Given the description of an element on the screen output the (x, y) to click on. 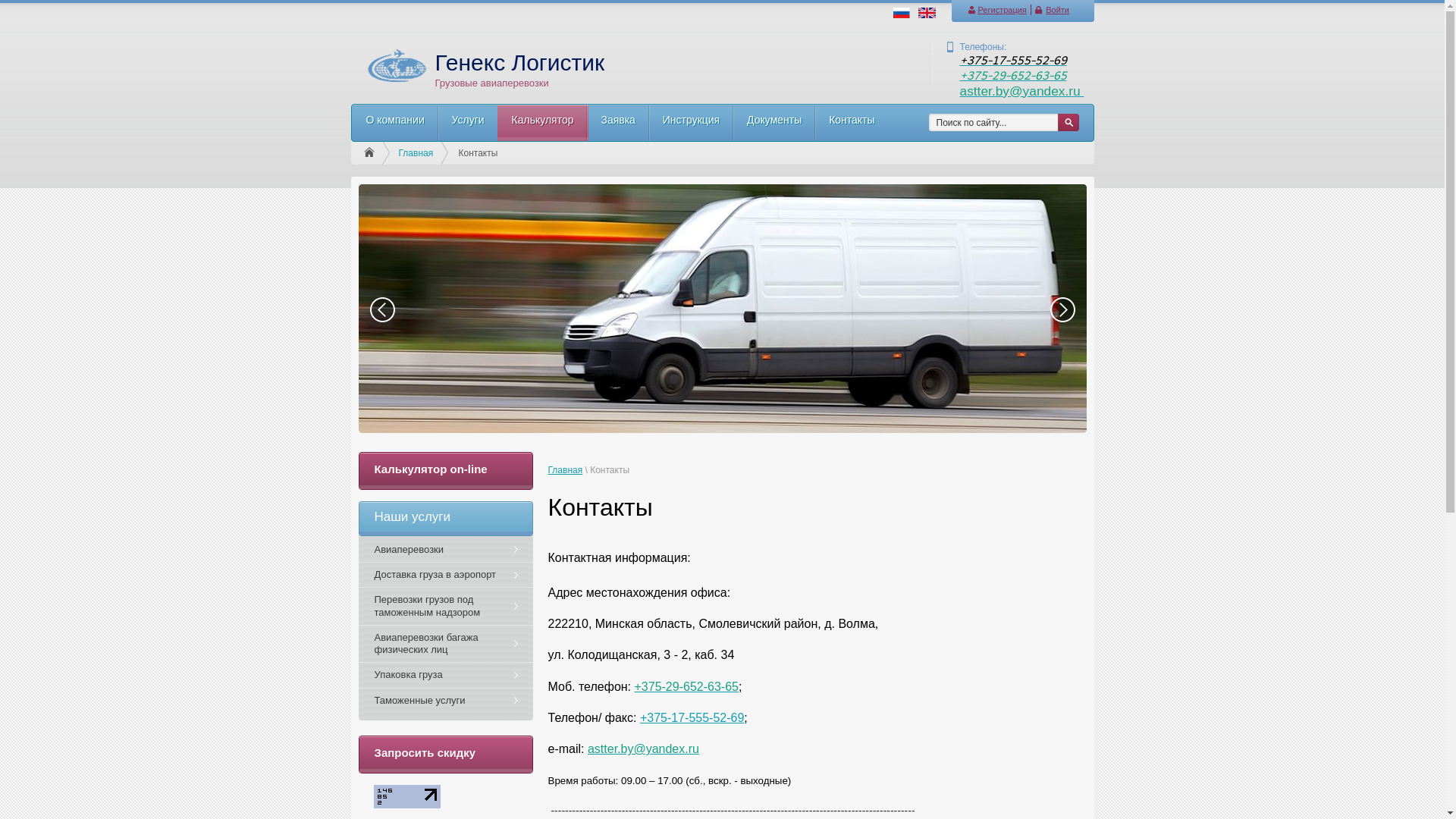
+375-17-555-52-69 Element type: text (691, 717)
astter.by@yandex.ru  Element type: text (1022, 90)
+375-17-555-52-69 Element type: text (1013, 59)
Prev Element type: text (382, 308)
Next Element type: text (1061, 308)
+375-29-652-63-65 Element type: text (685, 686)
astter.by@yandex.ru Element type: text (643, 748)
+375-29-652-63-65 Element type: text (1013, 74)
